Given the description of an element on the screen output the (x, y) to click on. 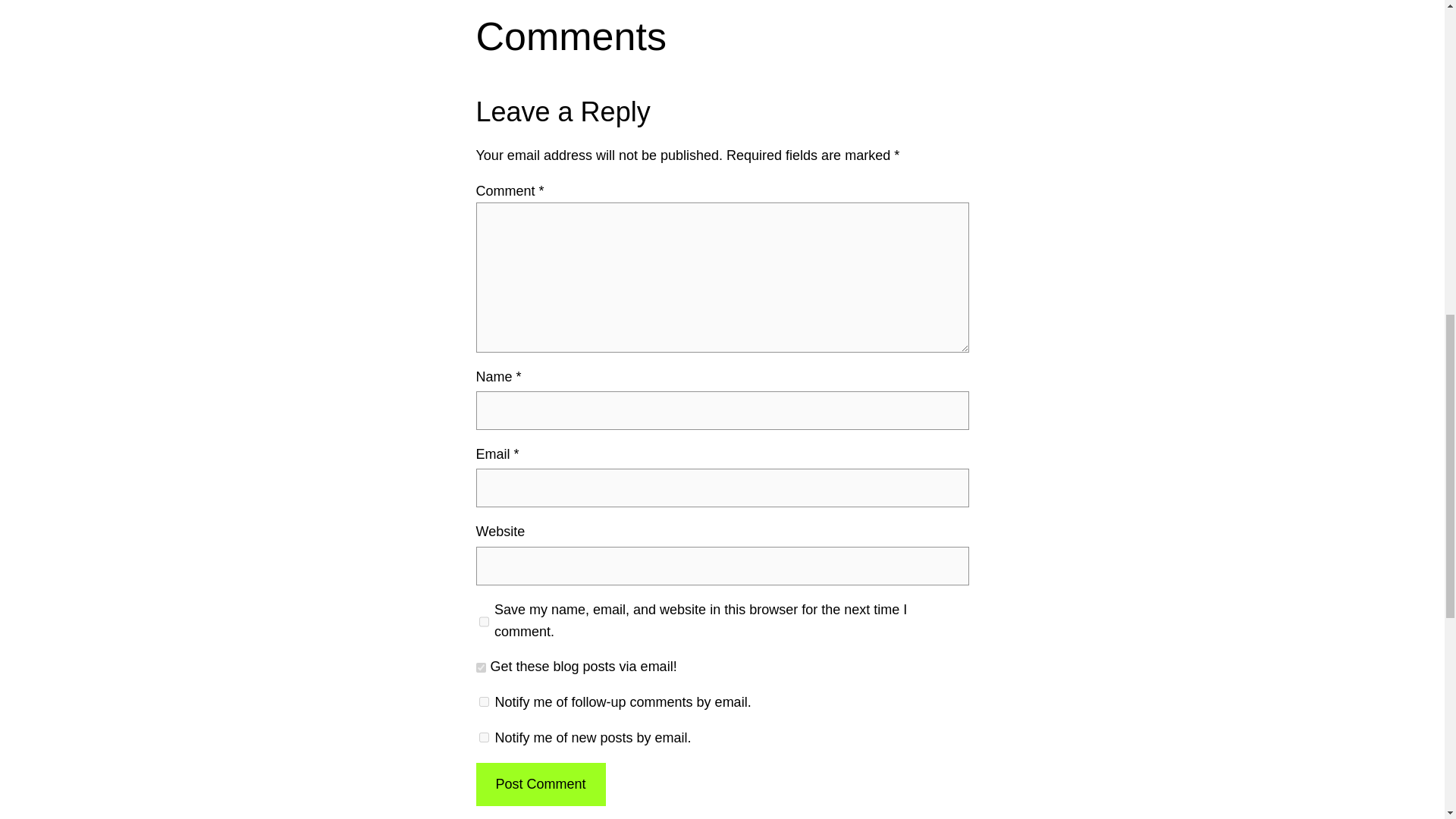
subscribe (484, 701)
subscribe (484, 737)
Post Comment (540, 783)
Post Comment (540, 783)
1 (481, 667)
